Given the description of an element on the screen output the (x, y) to click on. 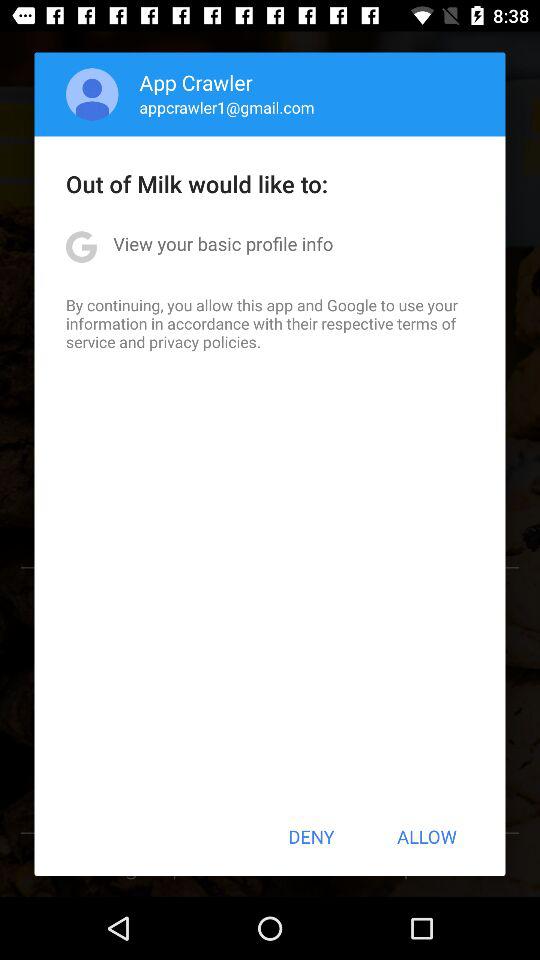
turn off icon above the out of milk app (226, 107)
